Given the description of an element on the screen output the (x, y) to click on. 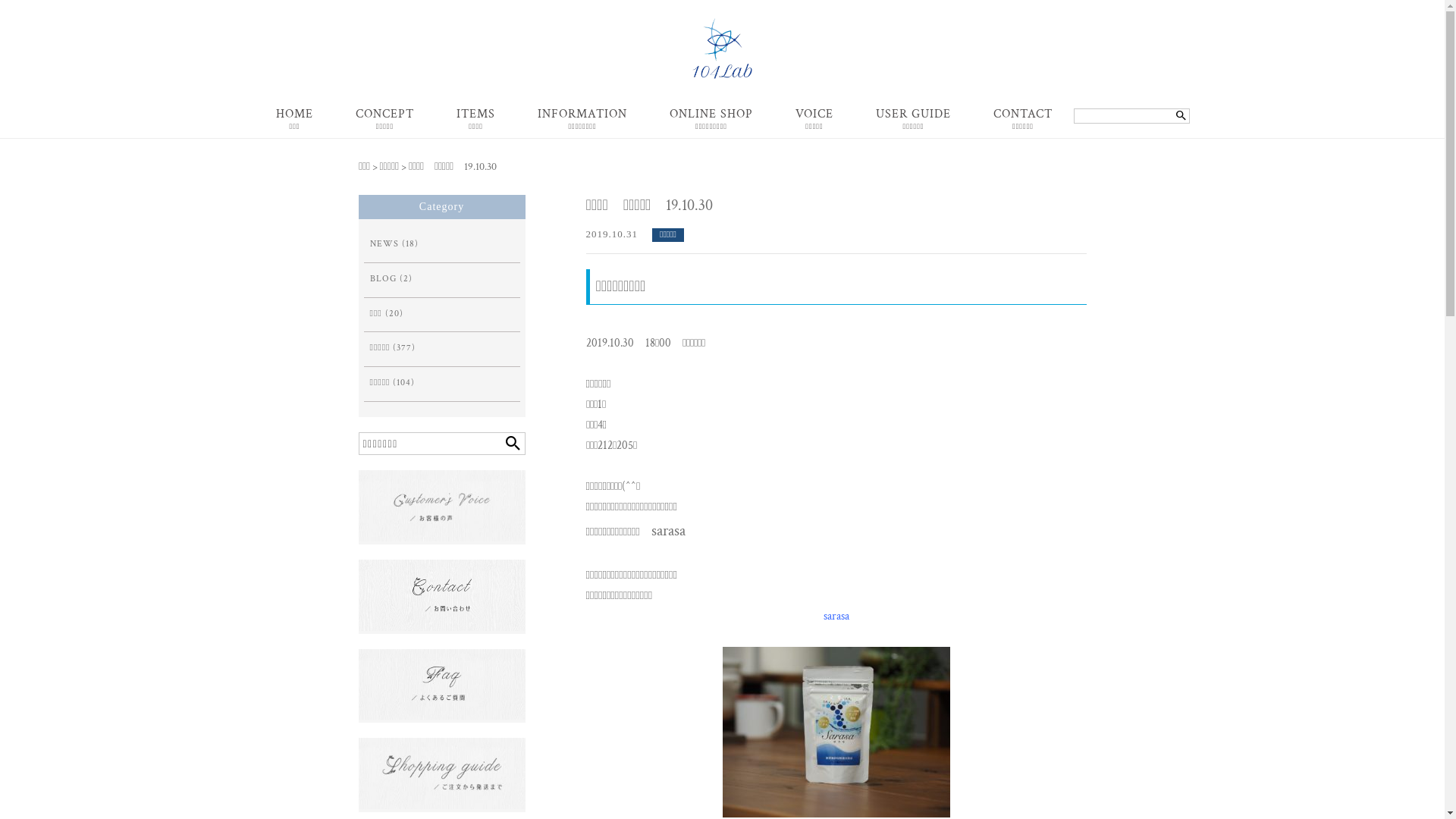
NEWS Element type: text (384, 244)
BLOG Element type: text (383, 279)
sarasa Element type: text (836, 615)
